Given the description of an element on the screen output the (x, y) to click on. 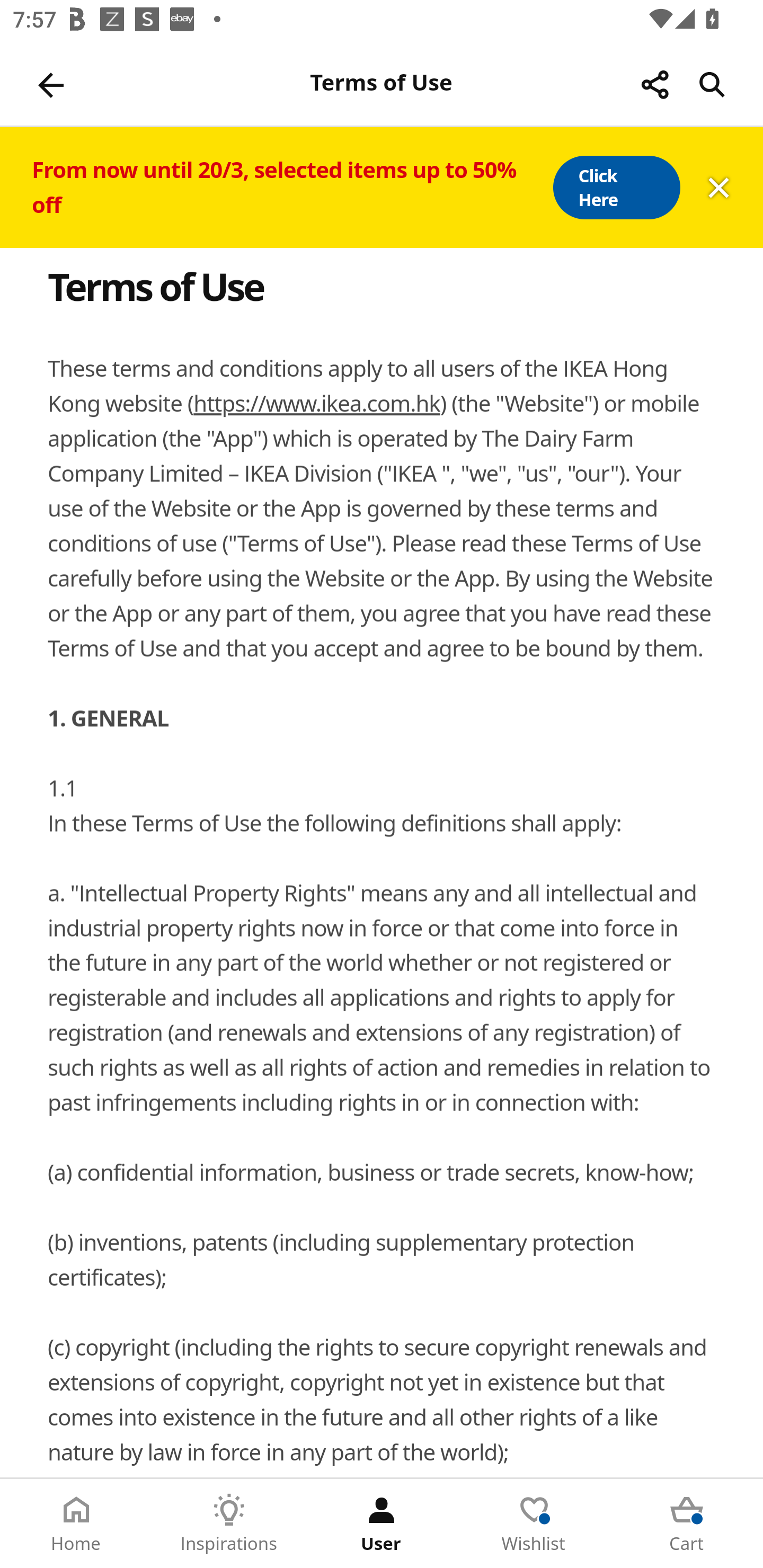
Click Here (615, 187)
https://www.ikea.com.hk (316, 403)
Home
Tab 1 of 5 (76, 1522)
Inspirations
Tab 2 of 5 (228, 1522)
User
Tab 3 of 5 (381, 1522)
Wishlist
Tab 4 of 5 (533, 1522)
Cart
Tab 5 of 5 (686, 1522)
